Given the description of an element on the screen output the (x, y) to click on. 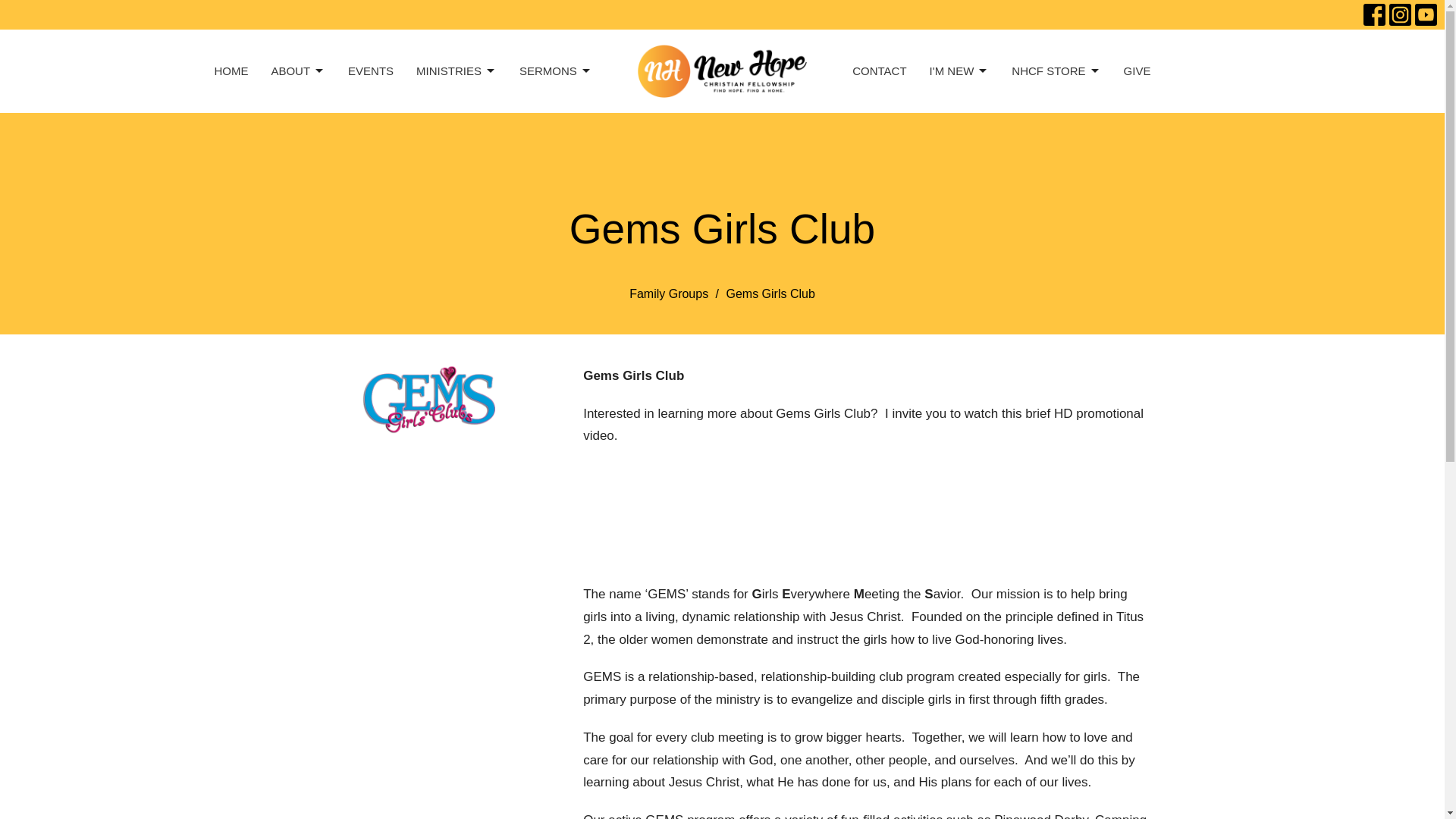
SERMONS (555, 70)
I'M NEW (960, 70)
CONTACT (878, 70)
HOME (230, 70)
Family Groups (667, 293)
MINISTRIES (456, 70)
NHCF STORE (1055, 70)
ABOUT (297, 70)
GIVE (1137, 70)
EVENTS (370, 70)
